Given the description of an element on the screen output the (x, y) to click on. 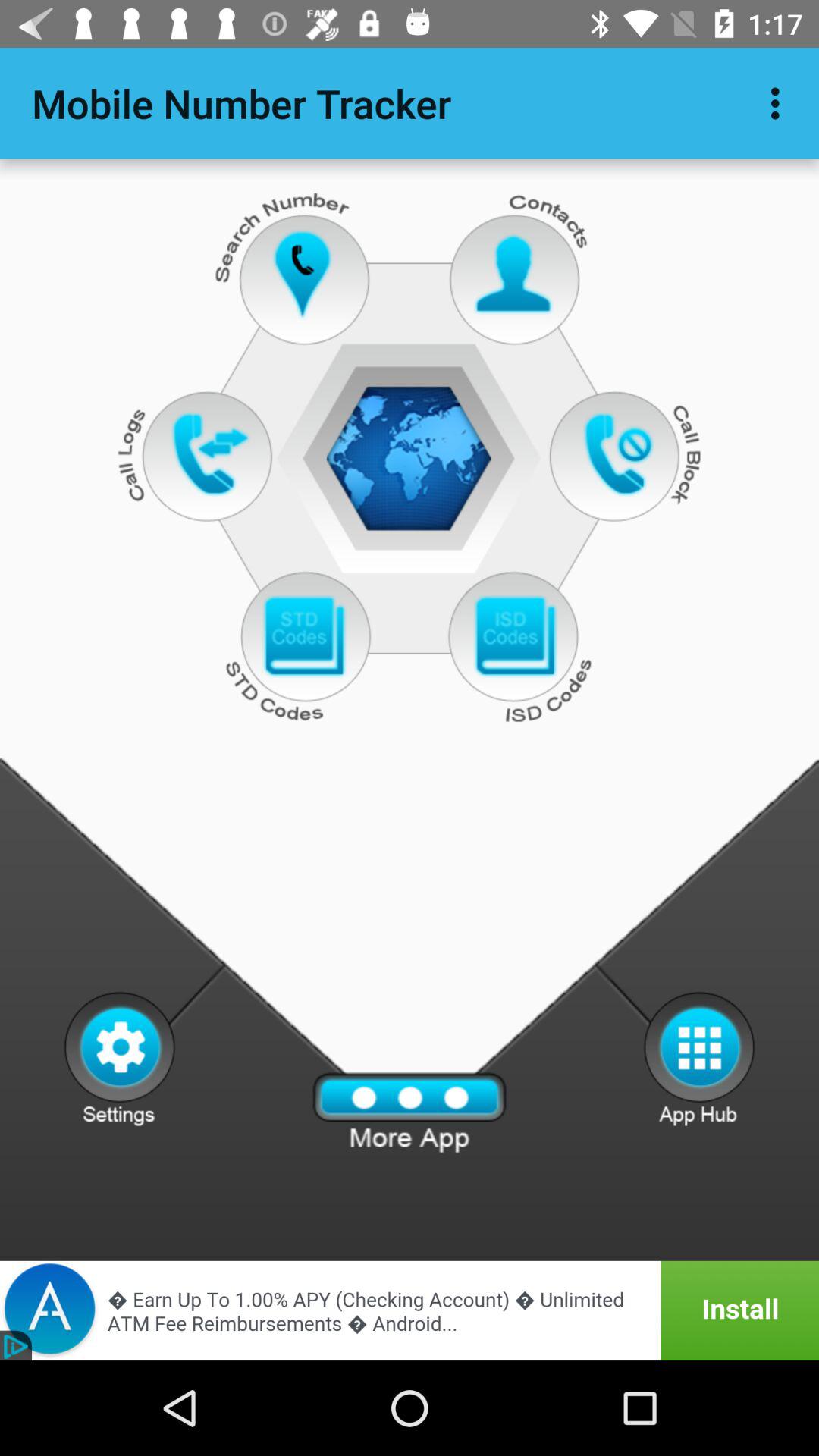
open call logs (210, 453)
